Given the description of an element on the screen output the (x, y) to click on. 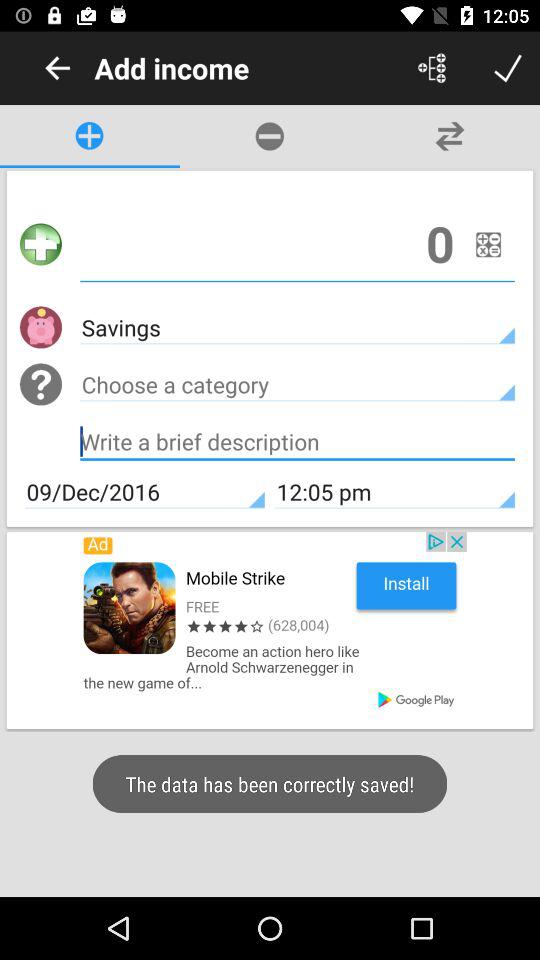
some small setting (488, 244)
